Given the description of an element on the screen output the (x, y) to click on. 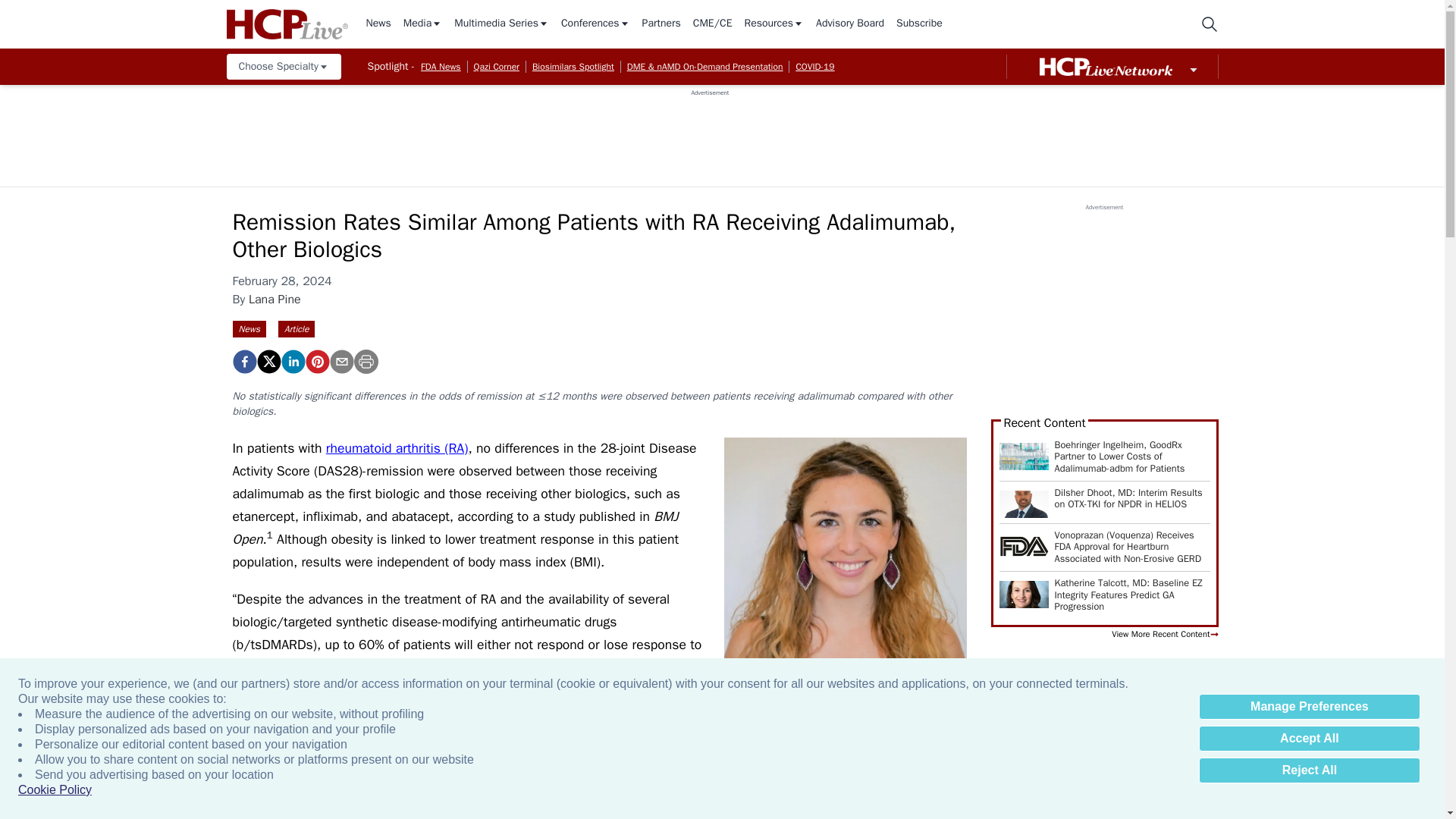
Accept All (1309, 738)
Manage Preferences (1309, 706)
Reject All (1309, 769)
Media (422, 23)
Cookie Policy (54, 789)
Resources (773, 23)
News (377, 23)
Multimedia Series (501, 23)
Advisory Board (849, 23)
3rd party ad content (709, 131)
Conferences (595, 23)
Partners (661, 23)
